Given the description of an element on the screen output the (x, y) to click on. 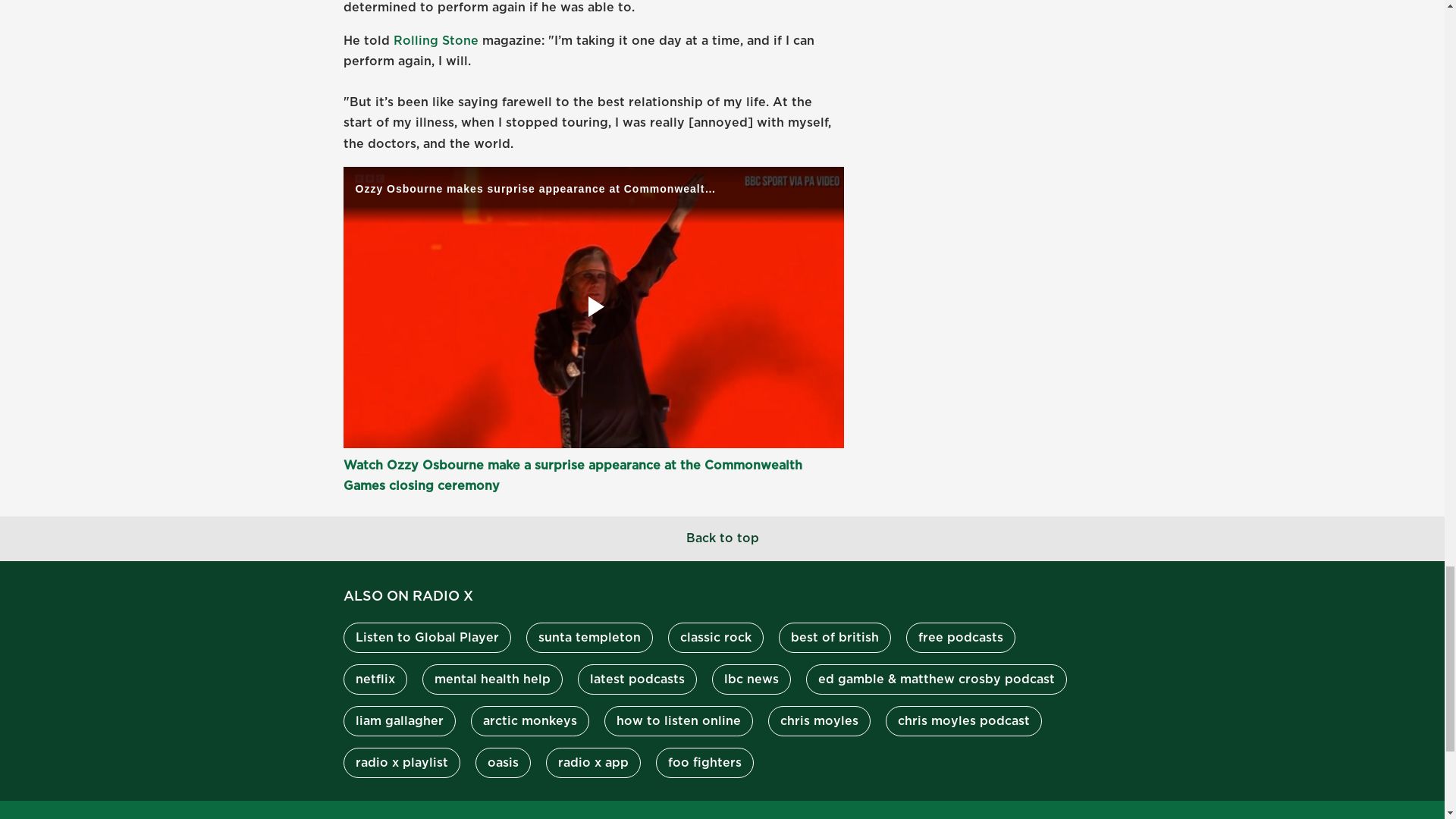
Rolling Stone (435, 40)
Back to top (721, 538)
